Given the description of an element on the screen output the (x, y) to click on. 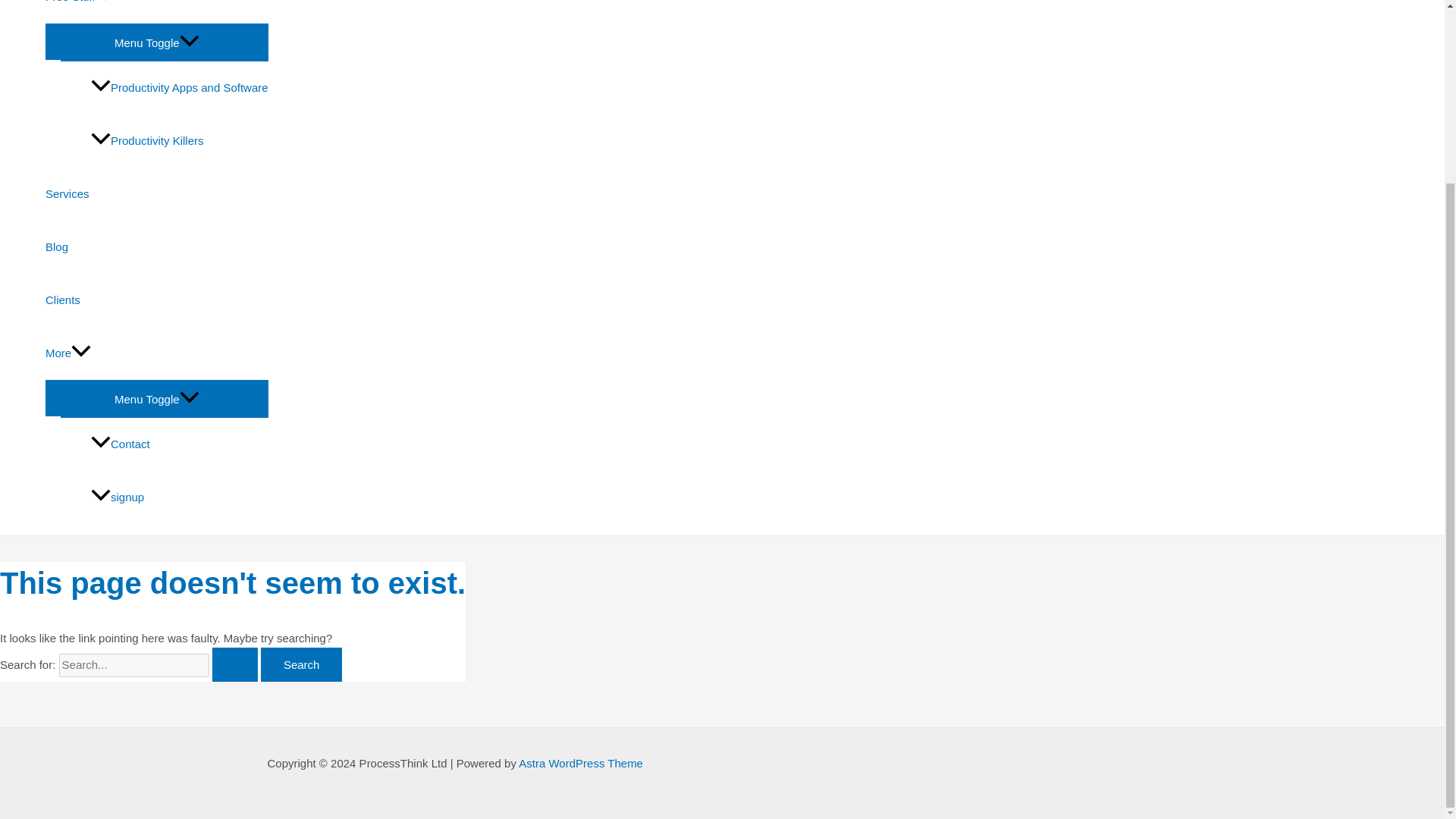
Search (301, 664)
More (156, 353)
Contact (178, 443)
Search (301, 664)
Services (156, 193)
Clients (156, 299)
Blog (156, 246)
Productivity Killers (178, 140)
Menu Toggle (156, 41)
signup (178, 497)
Astra WordPress Theme (580, 762)
Productivity Apps and Software (178, 87)
Menu Toggle (156, 398)
Free Stuff (156, 11)
Search (301, 664)
